Given the description of an element on the screen output the (x, y) to click on. 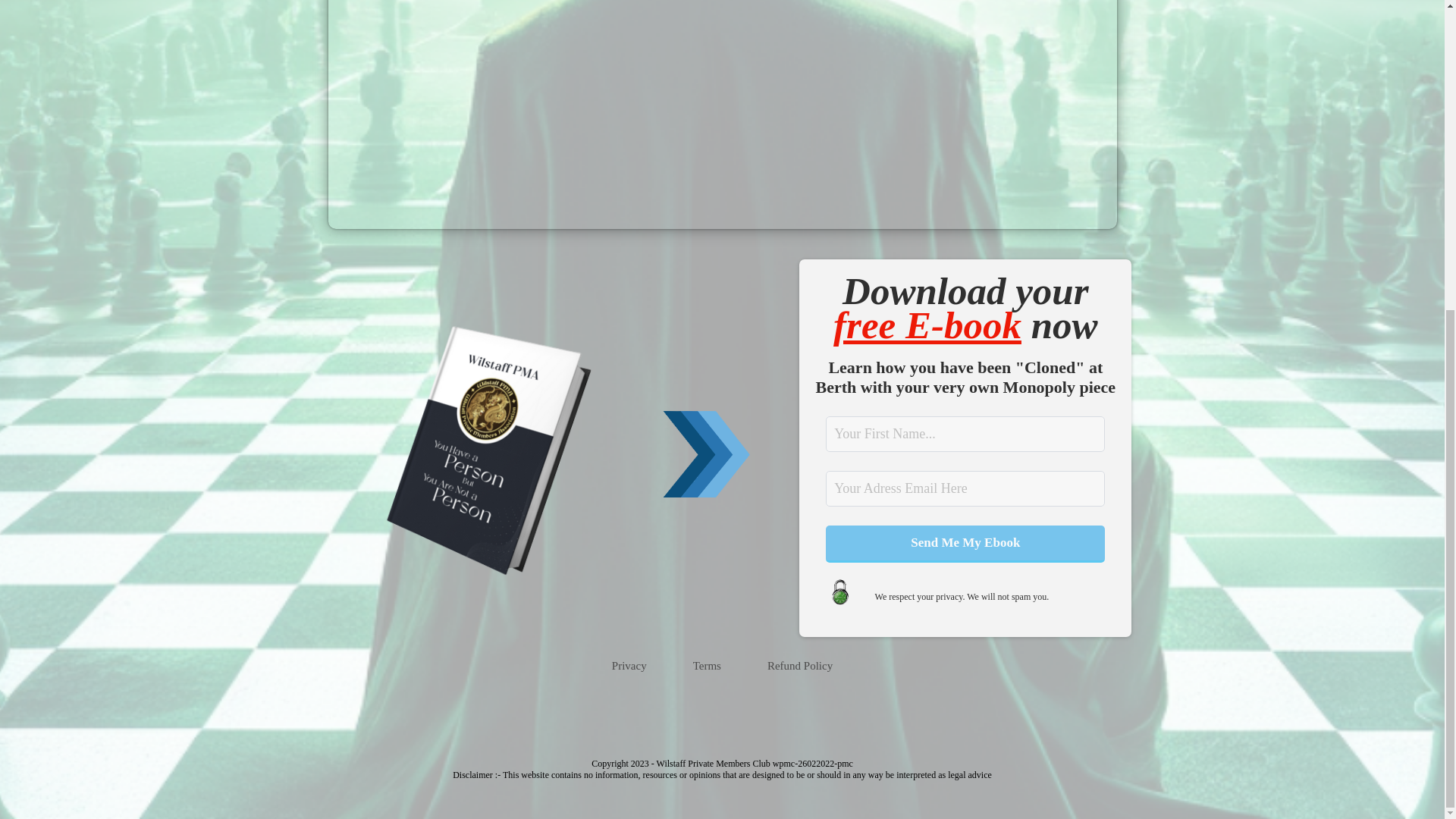
Refund Policy (799, 667)
Send Me My Ebook (965, 543)
Terms (706, 667)
Privacy (628, 667)
